Given the description of an element on the screen output the (x, y) to click on. 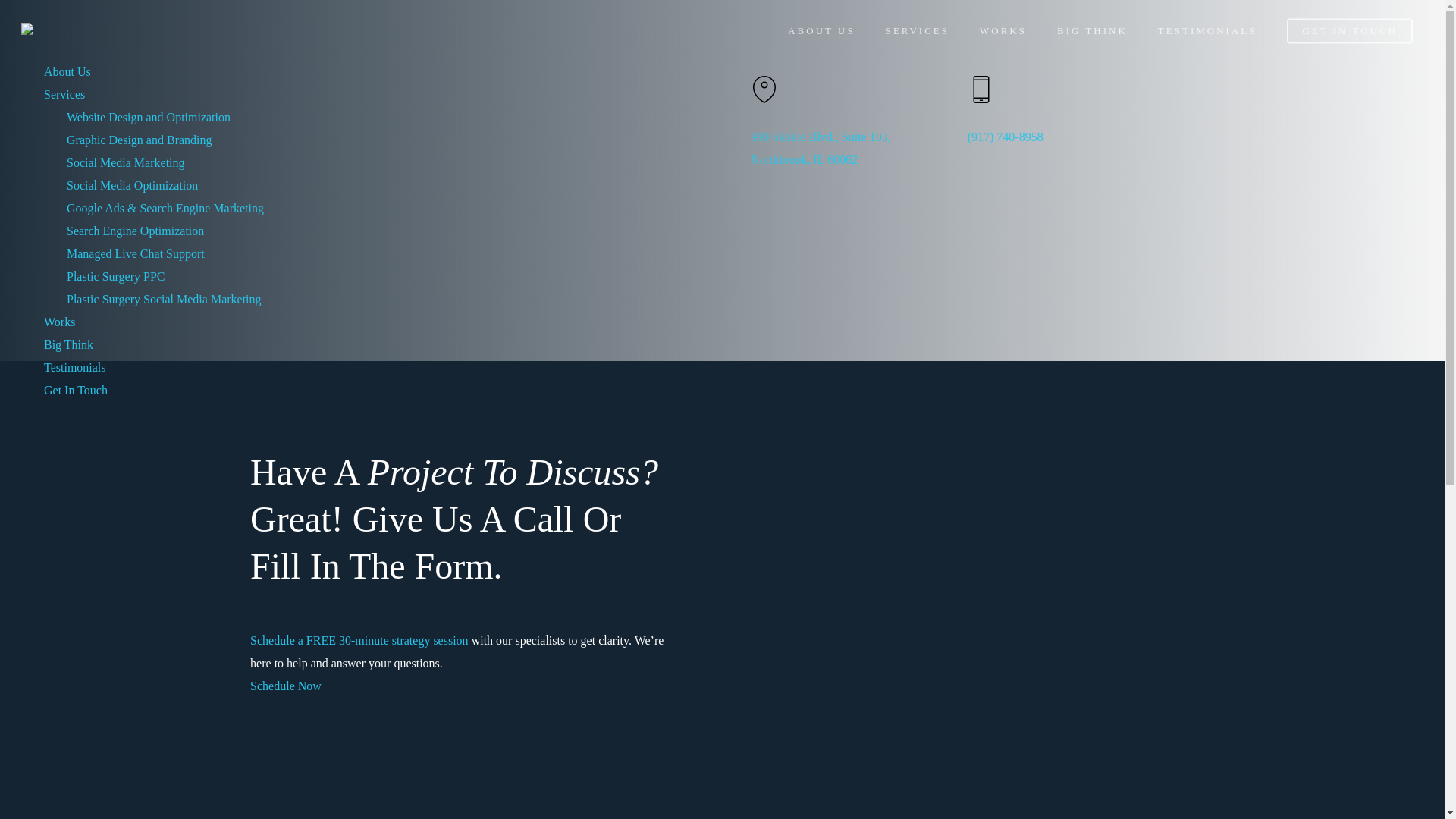
ABOUT US (820, 30)
Testimonials (74, 367)
Works (59, 321)
About Us (66, 71)
Website Design and Optimization (148, 116)
Social Media Optimization (132, 185)
Get In Touch (75, 390)
Services (63, 93)
BIG THINK (1091, 30)
Search Engine Optimization (134, 230)
SERVICES (917, 30)
Plastic Surgery PPC (115, 276)
Big Think (68, 344)
900 Skokie Blvd., Suite 103, Northbrook, IL 60062 (820, 148)
Social Media Marketing (125, 162)
